Given the description of an element on the screen output the (x, y) to click on. 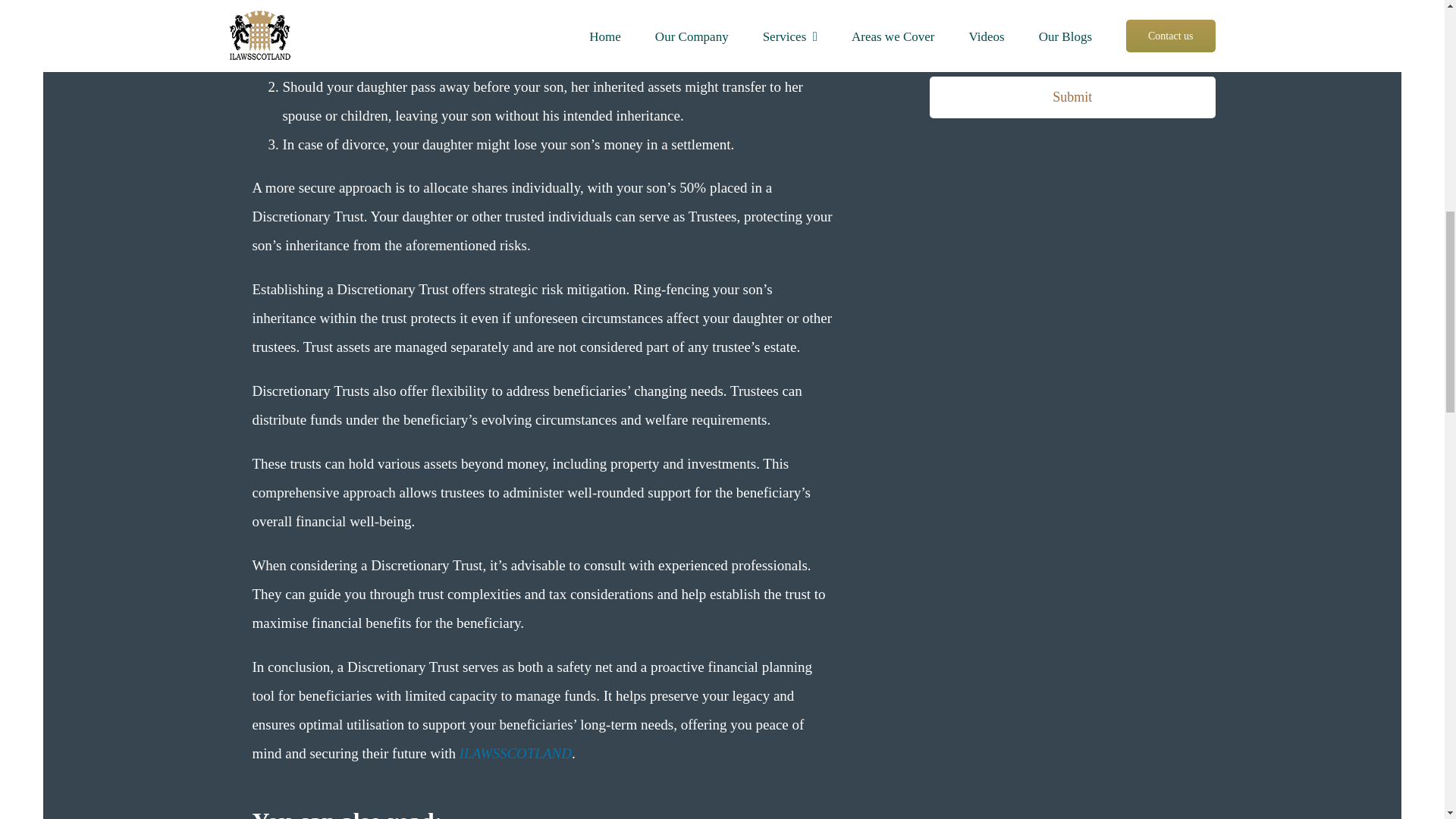
Submit (1072, 66)
ILAWSSCOTLAND (516, 753)
